Given the description of an element on the screen output the (x, y) to click on. 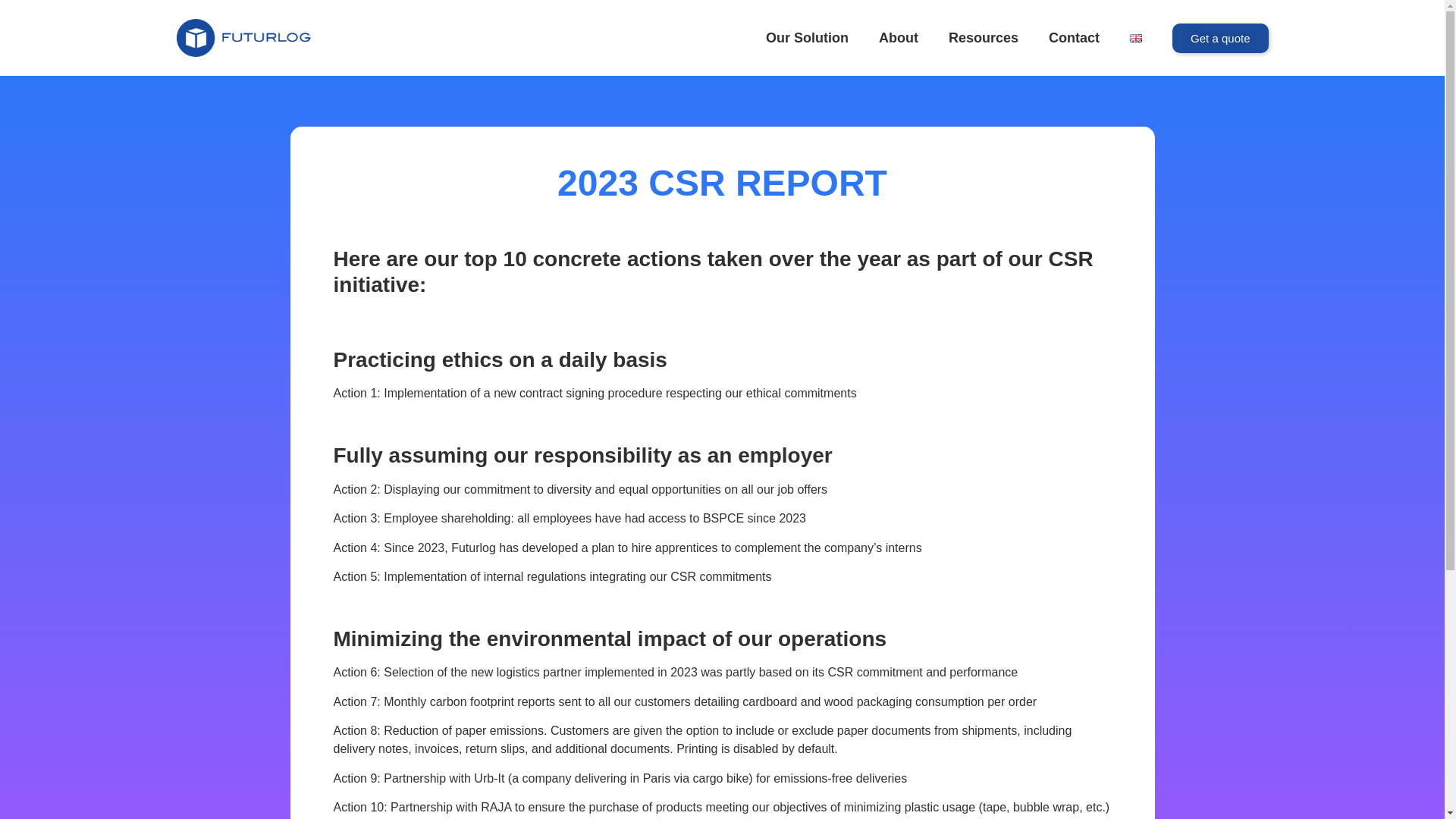
Resources (983, 37)
Contact (1074, 37)
Our Solution (807, 37)
About (898, 37)
